Given the description of an element on the screen output the (x, y) to click on. 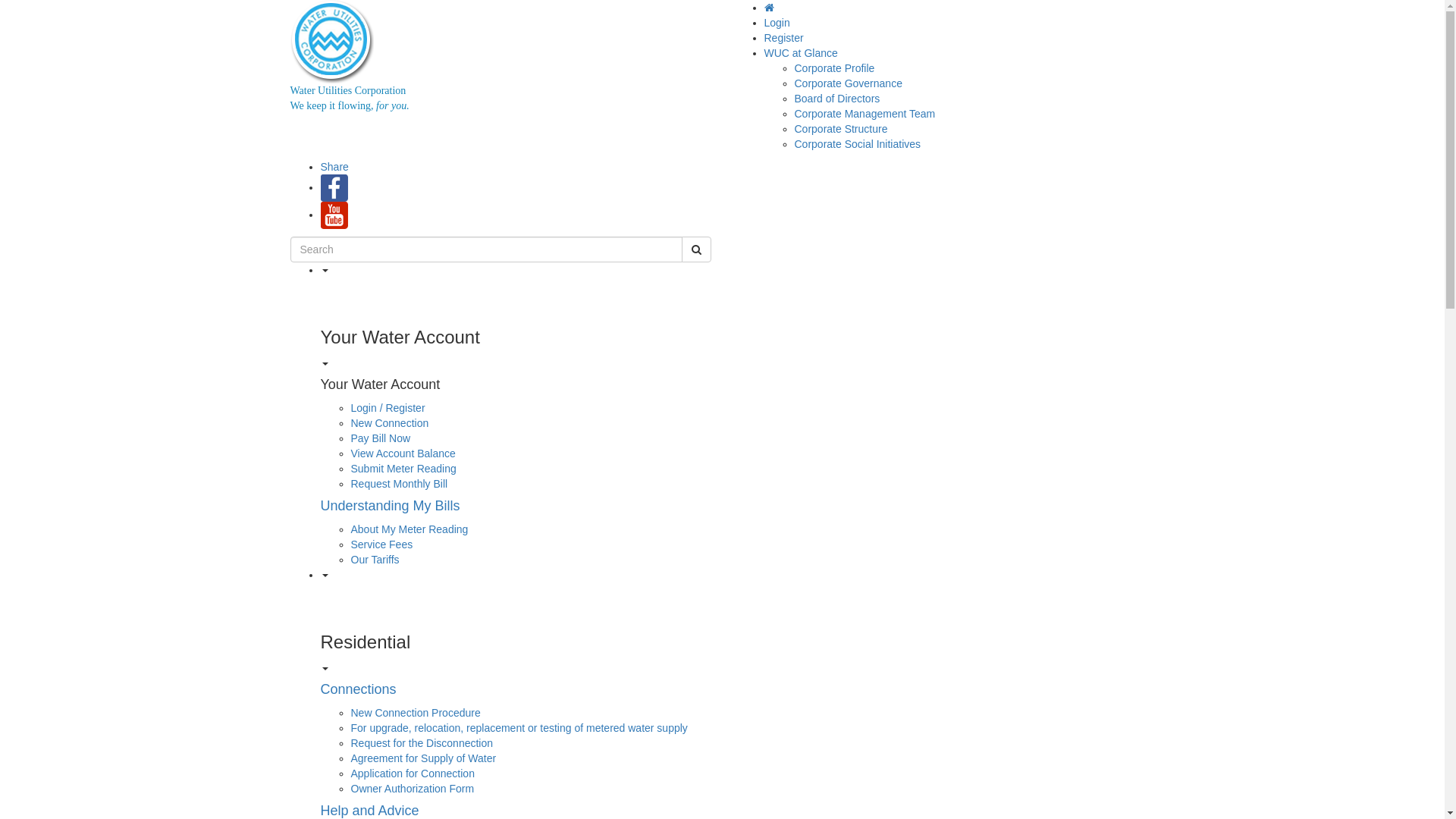
Connections Element type: text (357, 688)
Share Element type: text (334, 166)
Understanding My Bills Element type: text (389, 505)
Application for Connection Element type: text (411, 773)
View Account Balance Element type: text (402, 453)
Service Fees Element type: text (381, 544)
Login / Register Element type: text (387, 407)
Request for the Disconnection Element type: text (421, 743)
New Connection Element type: text (389, 423)
Pay Bill Now Element type: text (380, 438)
Corporate Management Team Element type: text (864, 113)
Request Monthly Bill Element type: text (398, 483)
Corporate Governance Element type: text (848, 83)
New Connection Procedure Element type: text (415, 712)
Board of Directors Element type: text (837, 98)
Corporate Social Initiatives Element type: text (857, 144)
Owner Authorization Form Element type: text (411, 788)
Help and Advice Element type: text (369, 810)
Login Element type: text (777, 22)
About My Meter Reading Element type: text (408, 529)
Register Element type: text (783, 37)
Corporate Profile Element type: text (834, 68)
Corporate Structure Element type: text (841, 128)
WUC at Glance Element type: text (800, 53)
Our Tariffs Element type: text (374, 559)
Submit Meter Reading Element type: text (402, 468)
Agreement for Supply of Water Element type: text (422, 758)
